Given the description of an element on the screen output the (x, y) to click on. 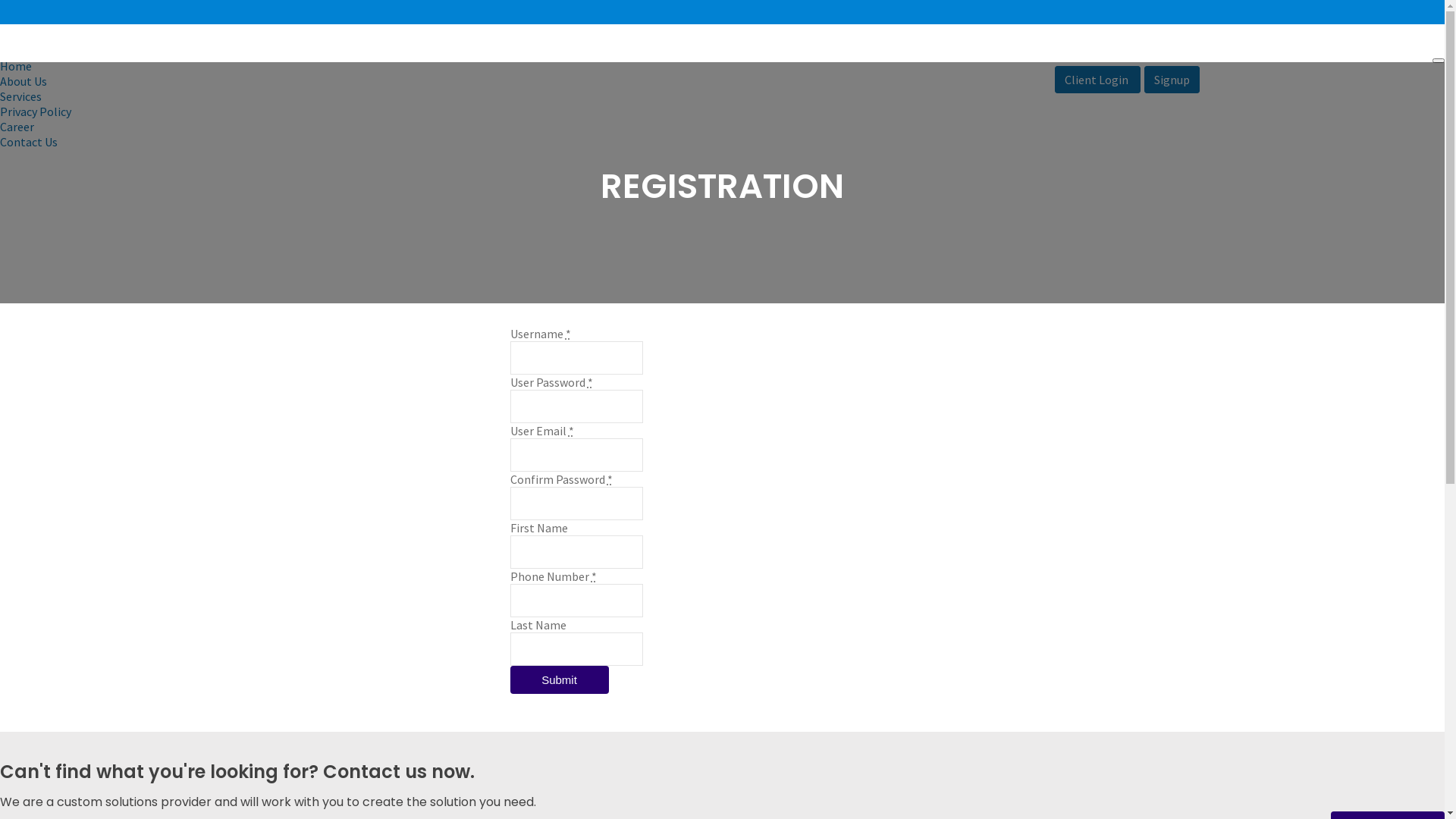
Signup Element type: text (1171, 79)
Client Login Element type: text (1097, 79)
Services Element type: text (20, 95)
Home Element type: text (15, 65)
Contact Us Element type: text (28, 141)
Submit Element type: text (558, 679)
About Us Element type: text (23, 80)
Privacy Policy Element type: text (35, 111)
Career Element type: text (17, 126)
